Given the description of an element on the screen output the (x, y) to click on. 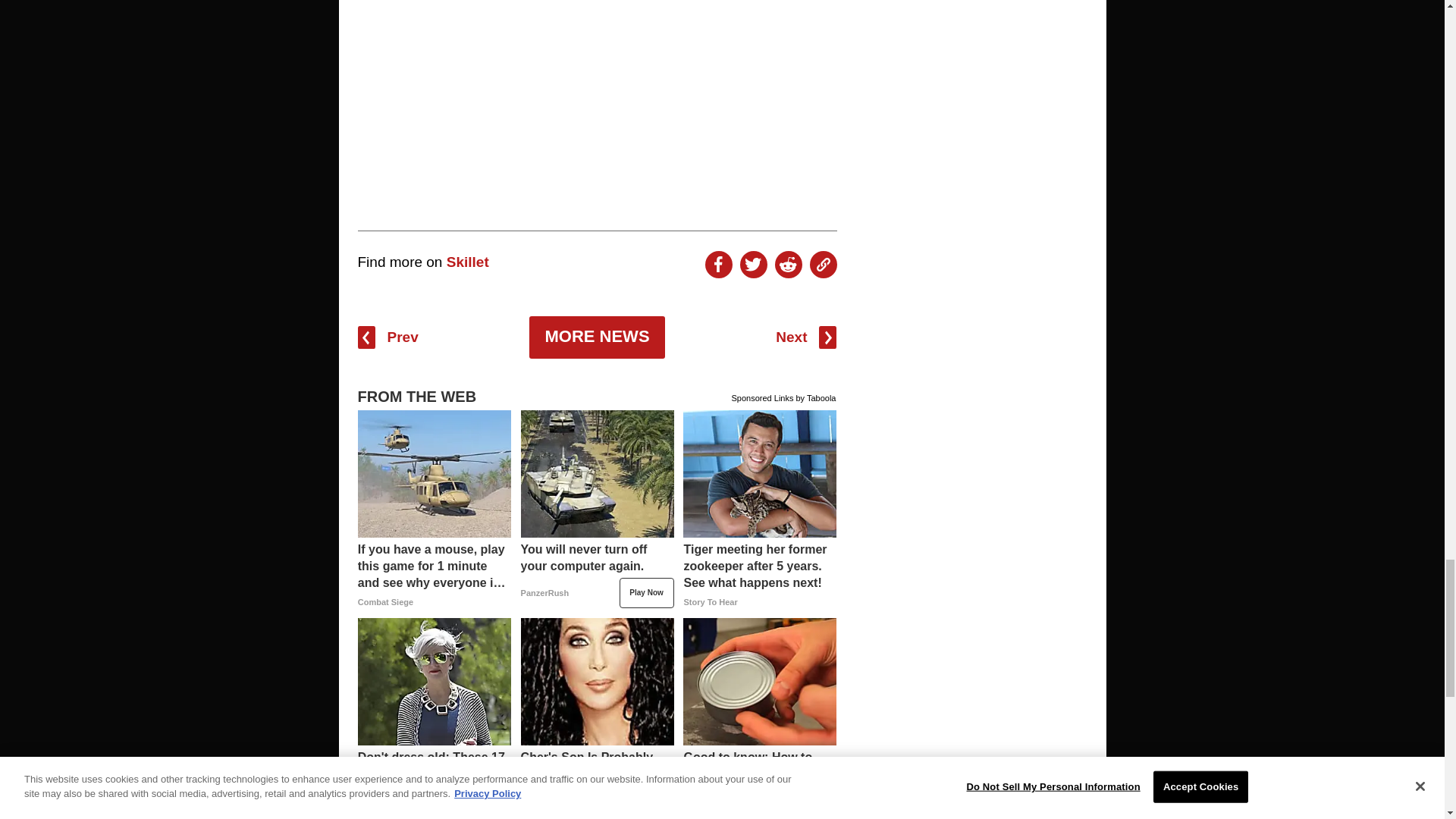
Copy To Clipboard (823, 264)
Next (805, 336)
You will never turn off your computer again. (597, 574)
by Taboola (814, 395)
Share On Twitter (753, 264)
Skillet (467, 261)
Share On Facebook (718, 264)
MORE NEWS (596, 337)
